Given the description of an element on the screen output the (x, y) to click on. 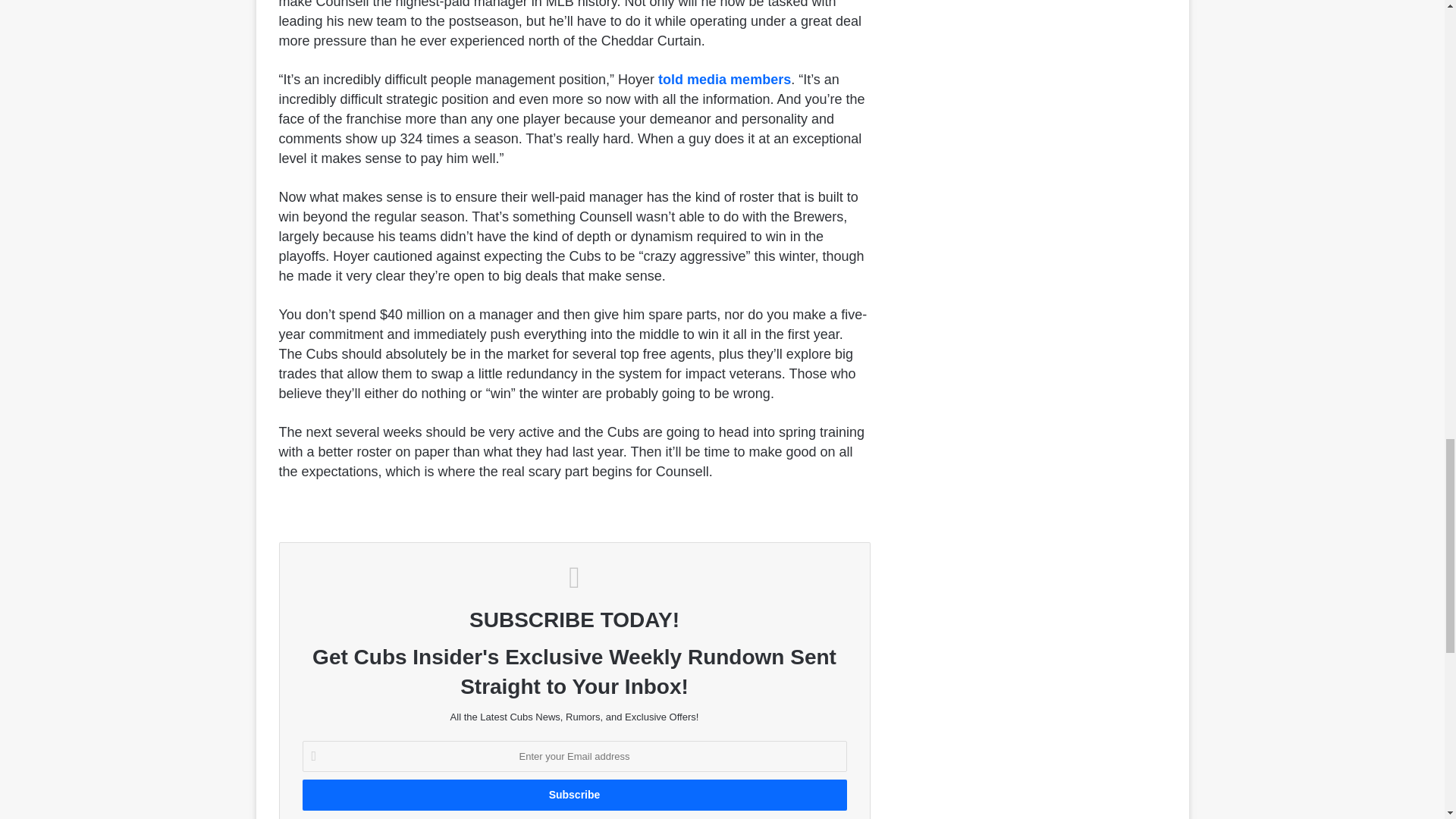
Subscribe (573, 794)
